Given the description of an element on the screen output the (x, y) to click on. 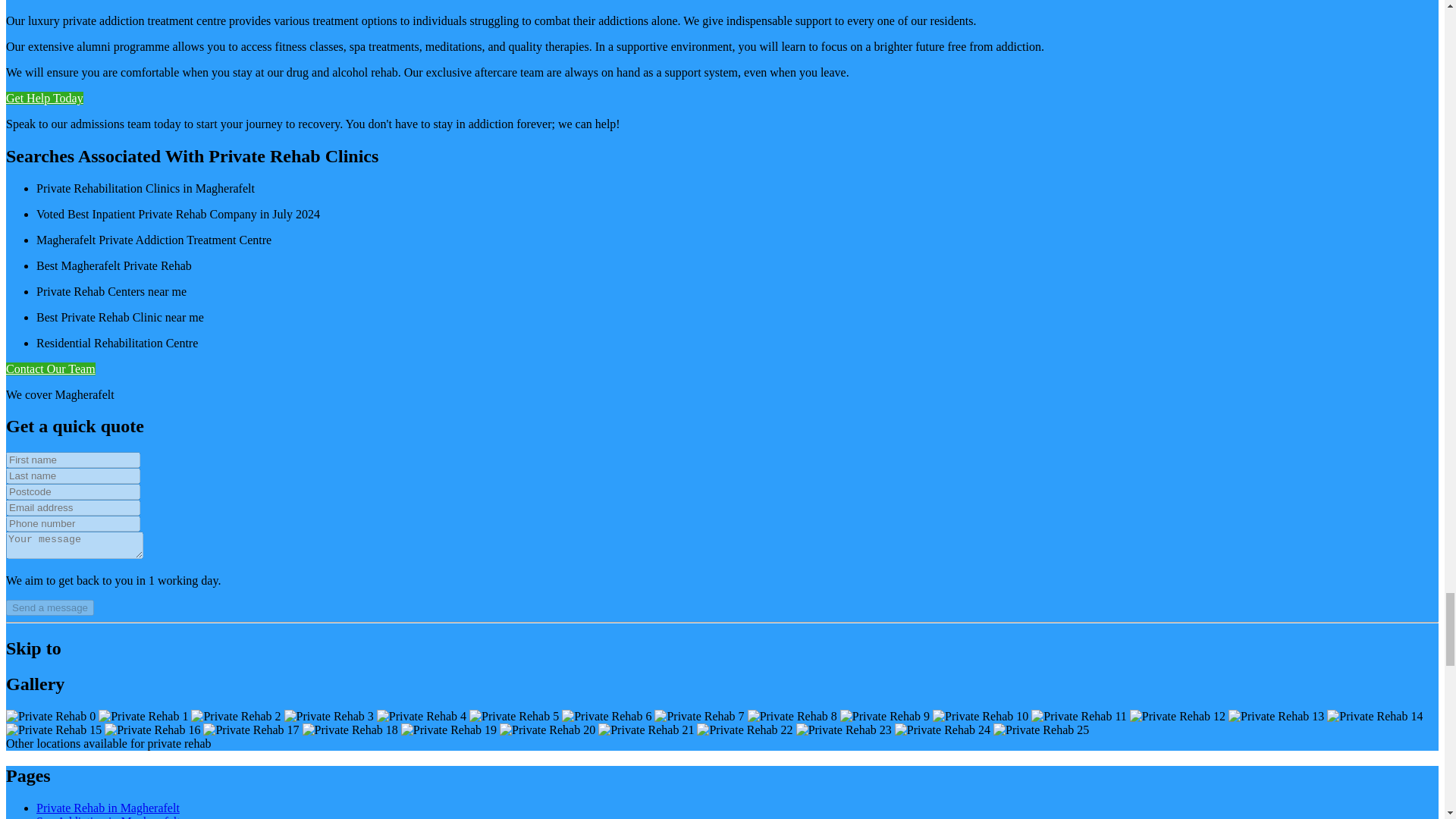
Sex Addiction in Magherafelt (108, 816)
Private Rehab in Magherafelt (107, 807)
Get Help Today (43, 97)
Send a message (49, 607)
Contact Our Team (50, 368)
